Given the description of an element on the screen output the (x, y) to click on. 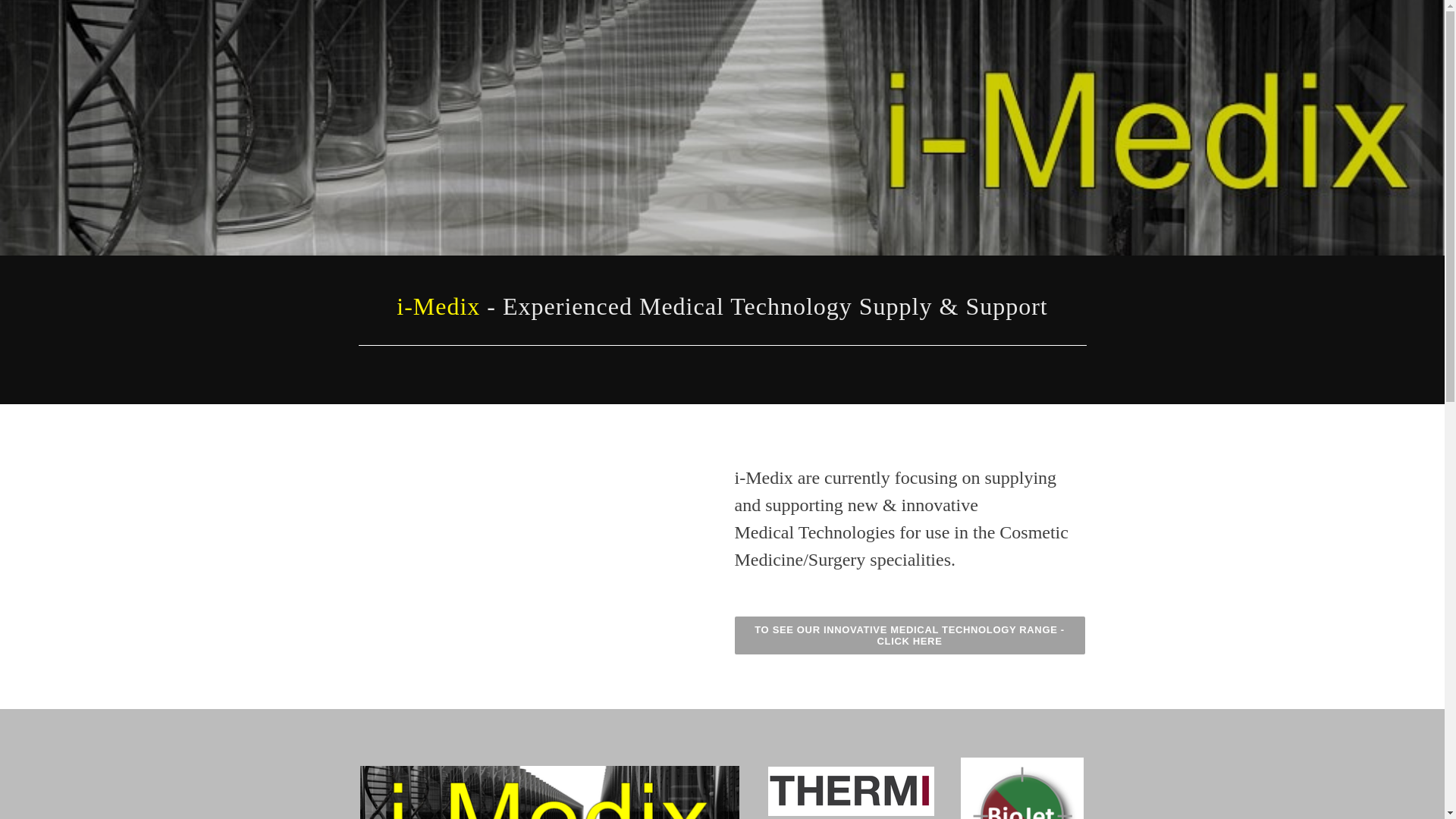
TO SEE OUR INNOVATIVE MEDICAL TECHNOLOGY RANGE - CLICK HERE Element type: text (909, 635)
